Given the description of an element on the screen output the (x, y) to click on. 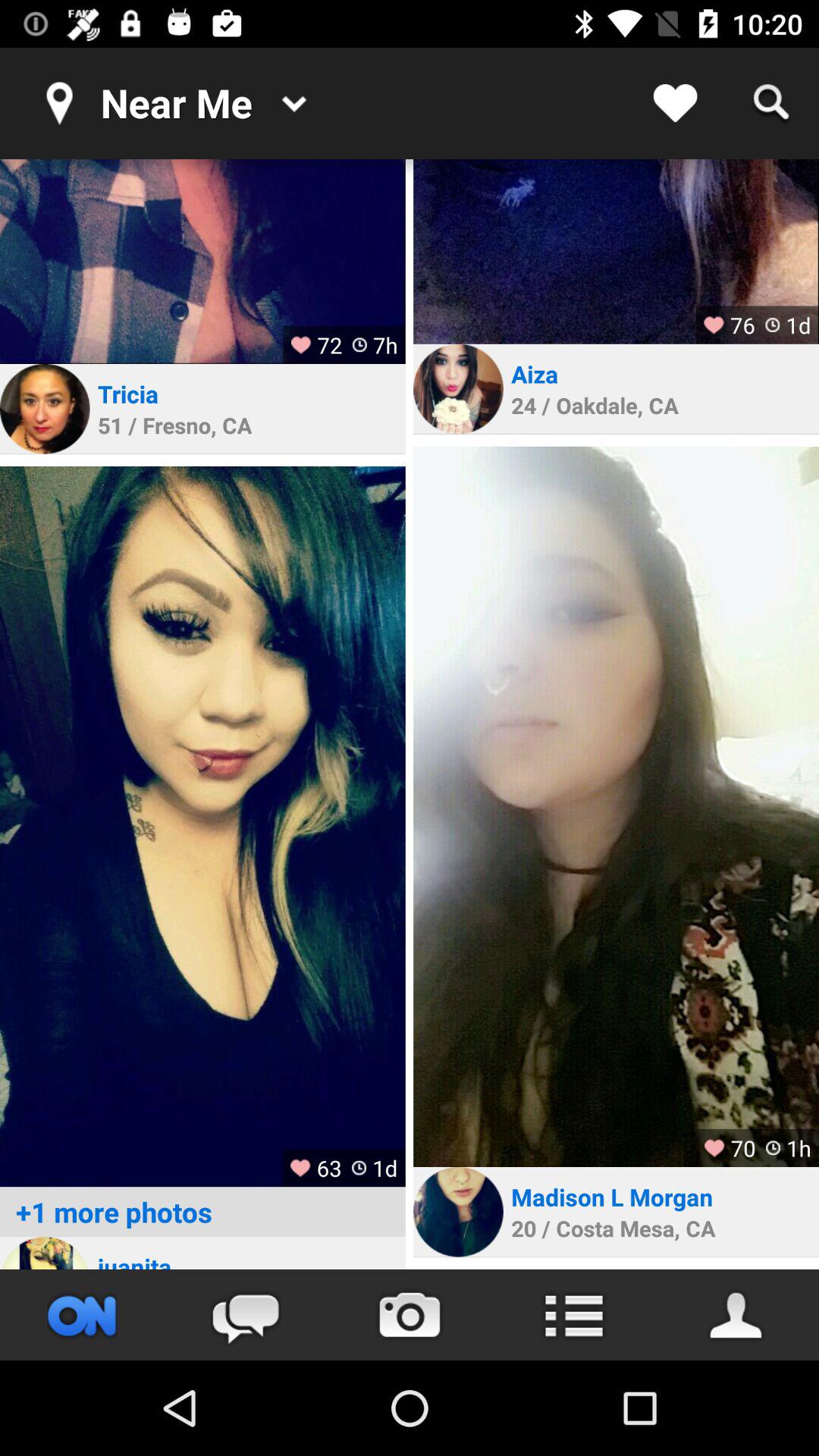
view profile (458, 388)
